Given the description of an element on the screen output the (x, y) to click on. 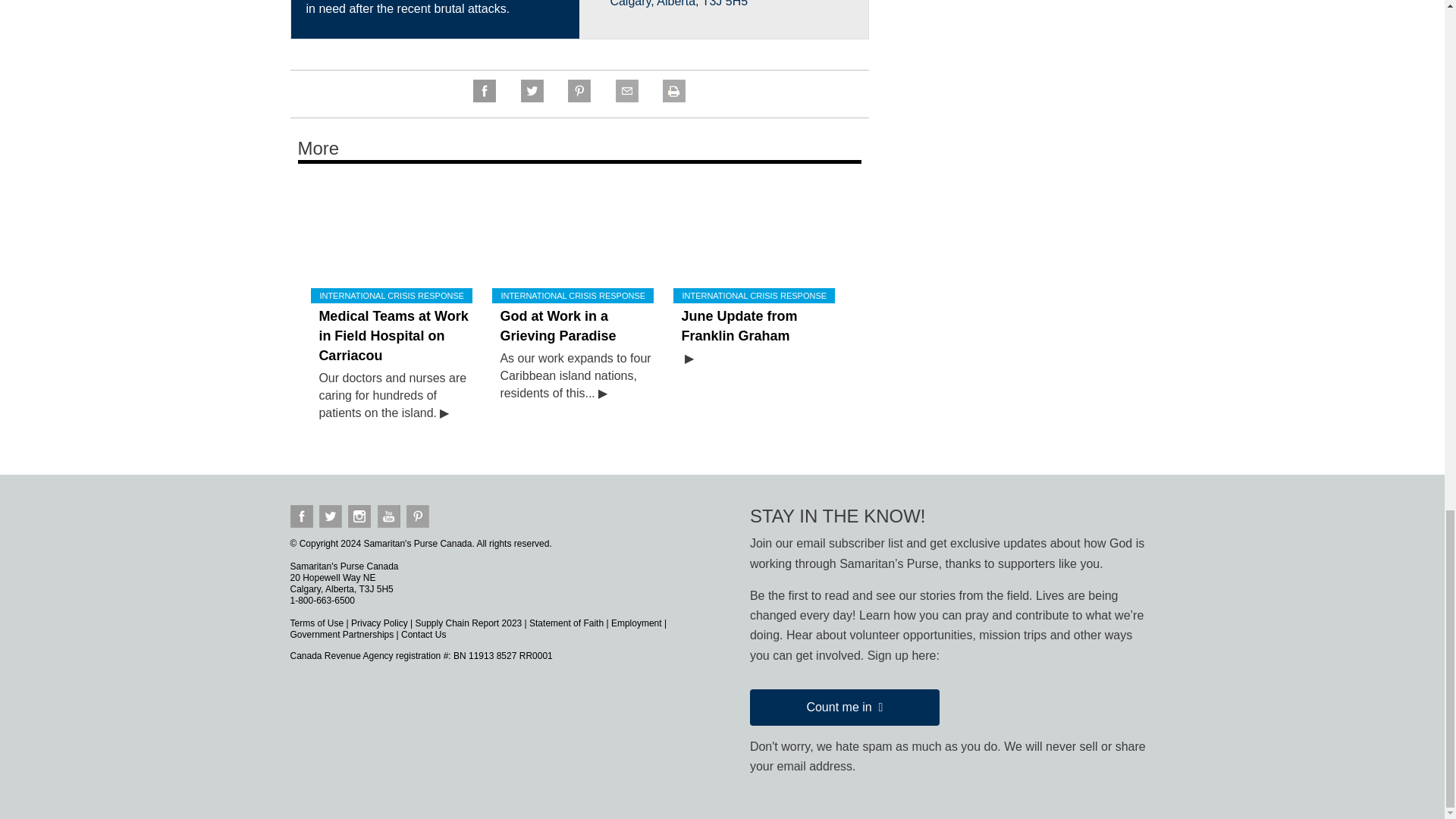
Print Page (674, 97)
Share by Email (626, 97)
